Given the description of an element on the screen output the (x, y) to click on. 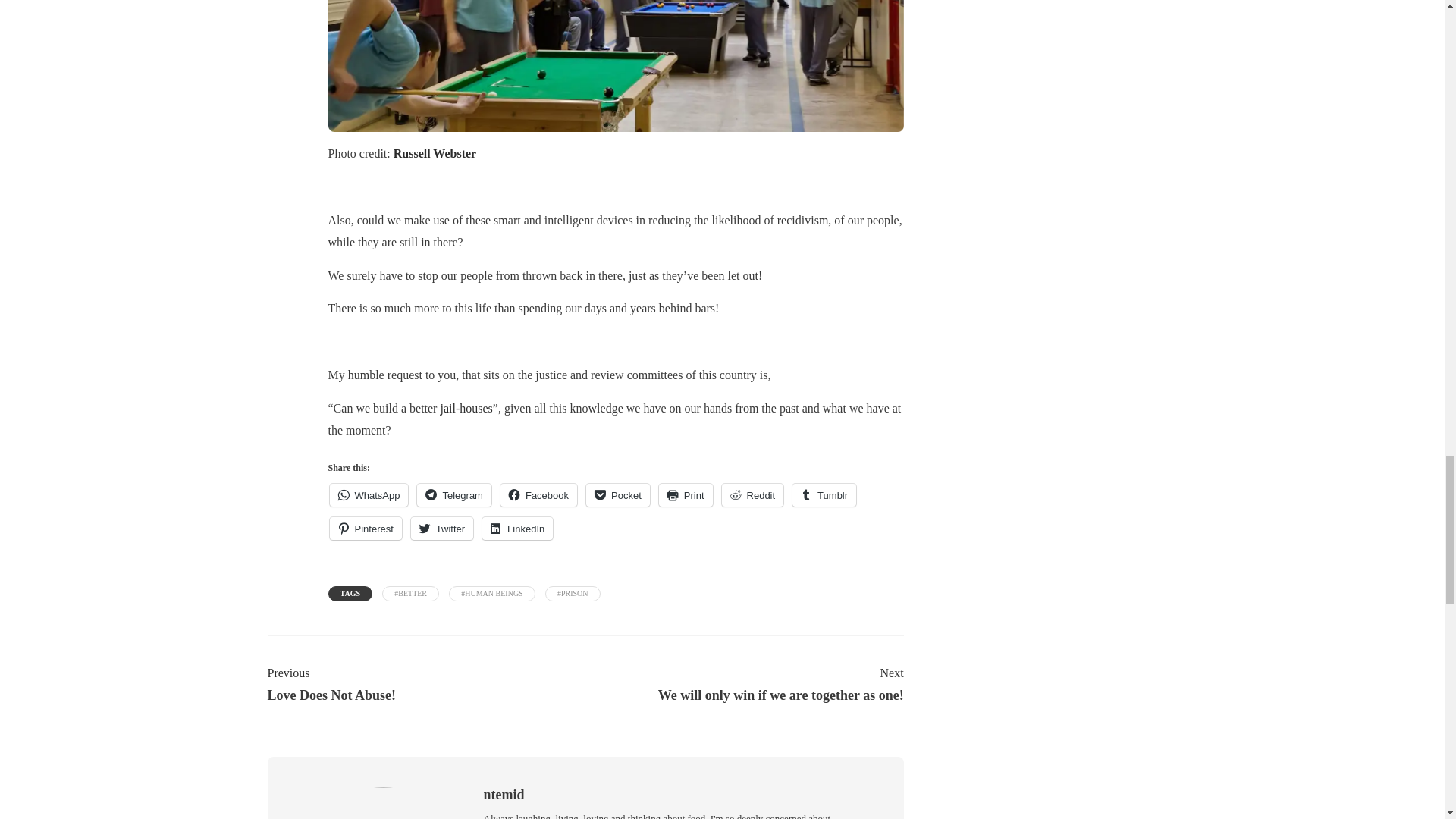
Click to print (686, 495)
Click to share on Tumblr (824, 495)
Click to share on Pocket (617, 495)
Click to share on Reddit (753, 495)
Click to share on WhatsApp (368, 495)
Click to share on Facebook (538, 495)
Click to share on Pinterest (365, 527)
Click to share on Telegram (453, 495)
Click to share on LinkedIn (517, 527)
Click to share on Twitter (441, 527)
